Given the description of an element on the screen output the (x, y) to click on. 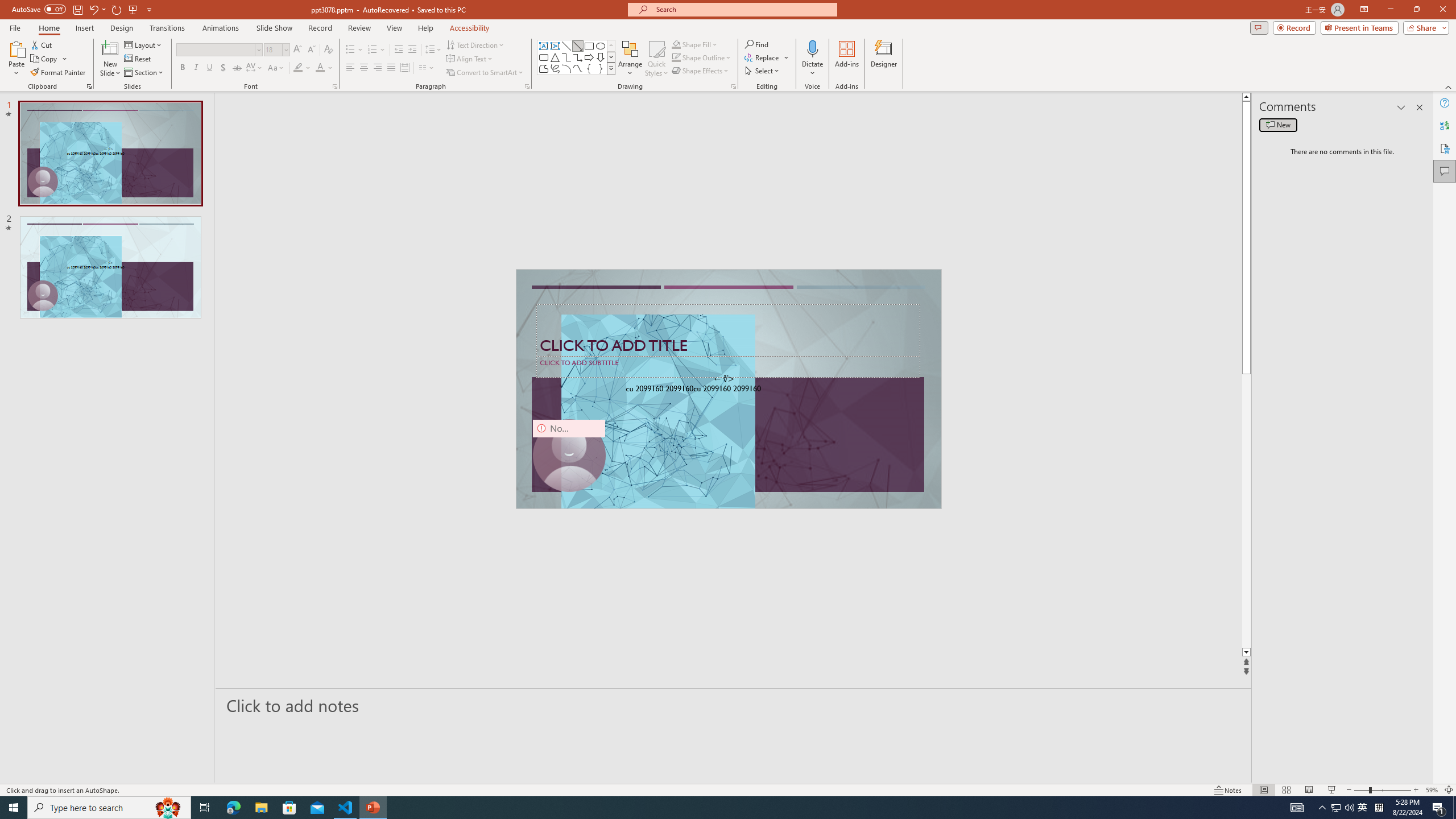
TextBox 7 (723, 378)
